Given the description of an element on the screen output the (x, y) to click on. 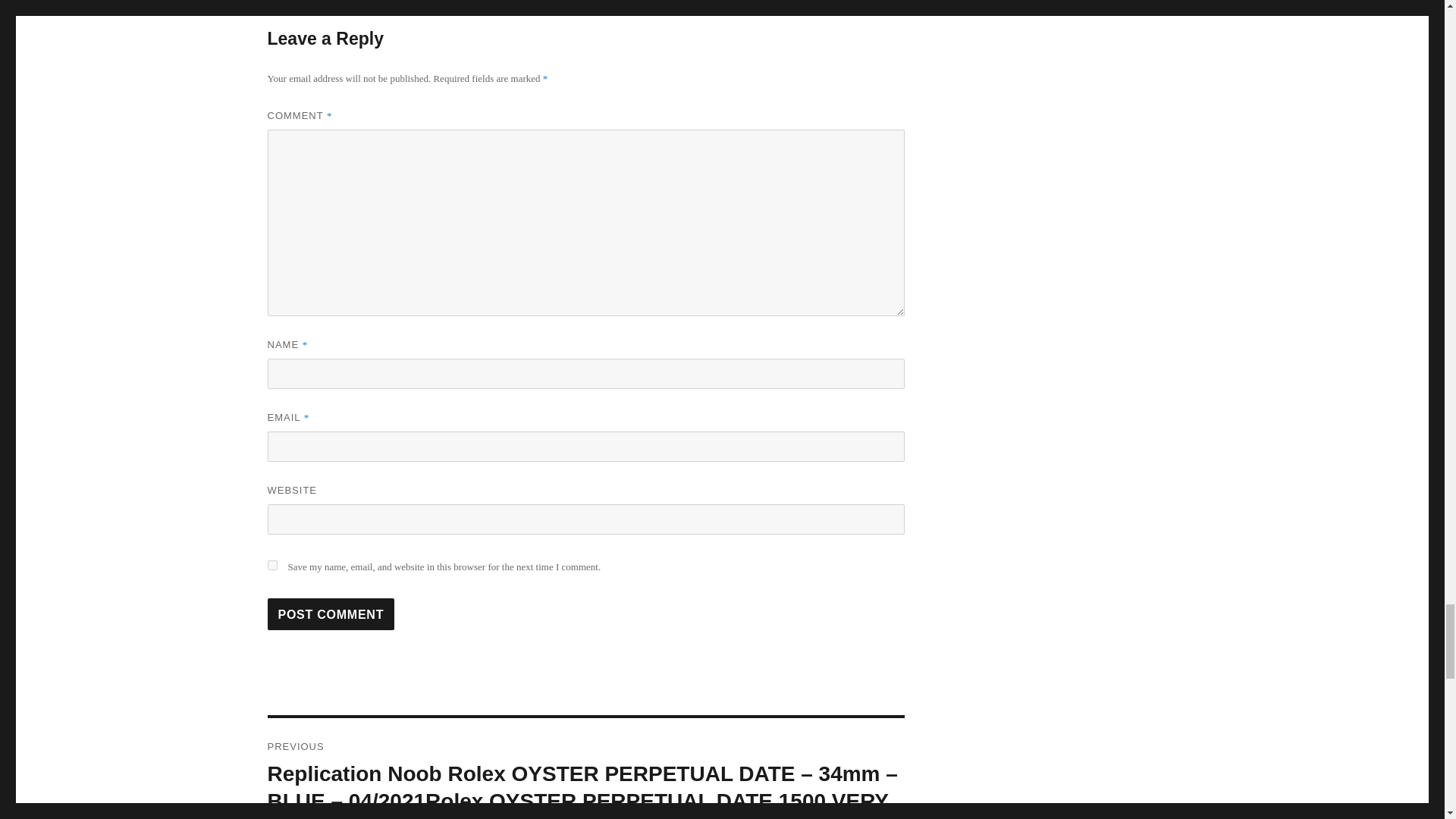
yes (271, 565)
Post Comment (330, 613)
Post Comment (330, 613)
